Given the description of an element on the screen output the (x, y) to click on. 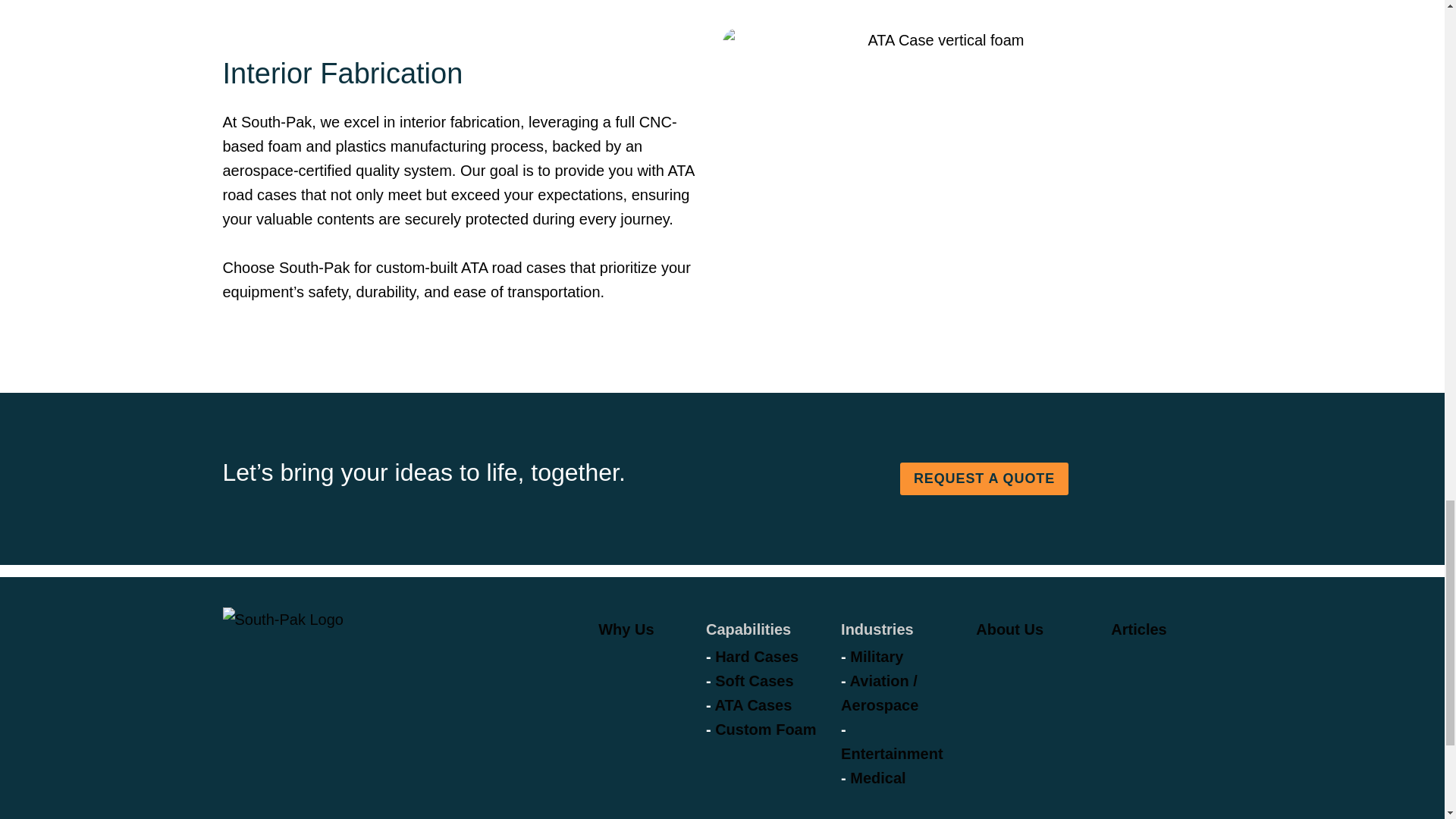
ATA Cases (753, 704)
Custom Foam (764, 729)
Articles (1138, 629)
Entertainment (891, 753)
About Us (1009, 629)
Medical (877, 777)
REQUEST A QUOTE (983, 478)
Hard Cases (755, 656)
Soft Cases (753, 680)
Military (876, 656)
